Given the description of an element on the screen output the (x, y) to click on. 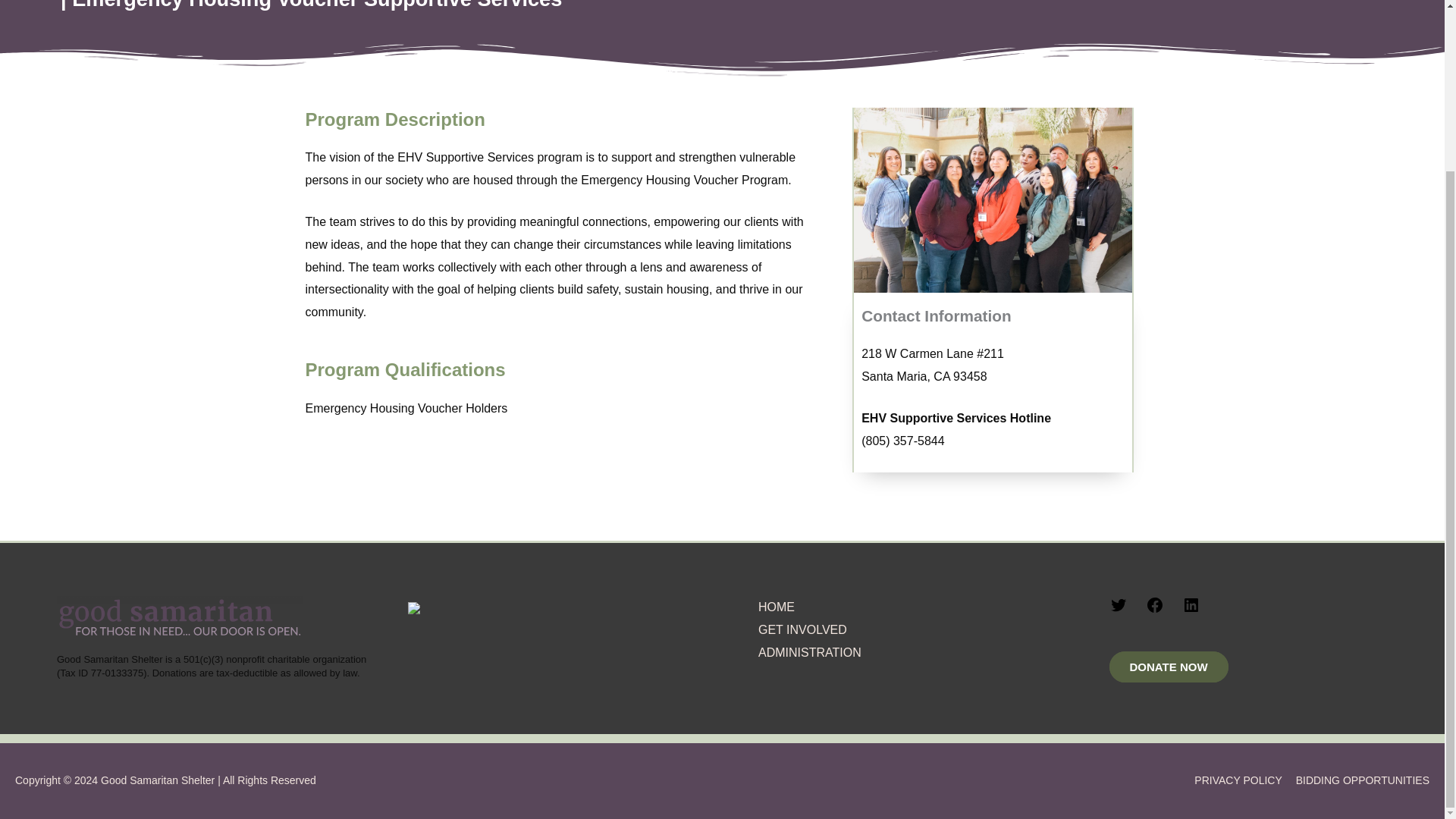
Twitter (1117, 609)
GET INVOLVED (802, 629)
ADMINISTRATION (809, 652)
DONATE NOW (1167, 666)
BIDDING OPPORTUNITIES (1357, 779)
PRIVACY POLICY (1232, 779)
Facebook (1153, 609)
HOME (776, 606)
LinkedIn (1189, 609)
